Given the description of an element on the screen output the (x, y) to click on. 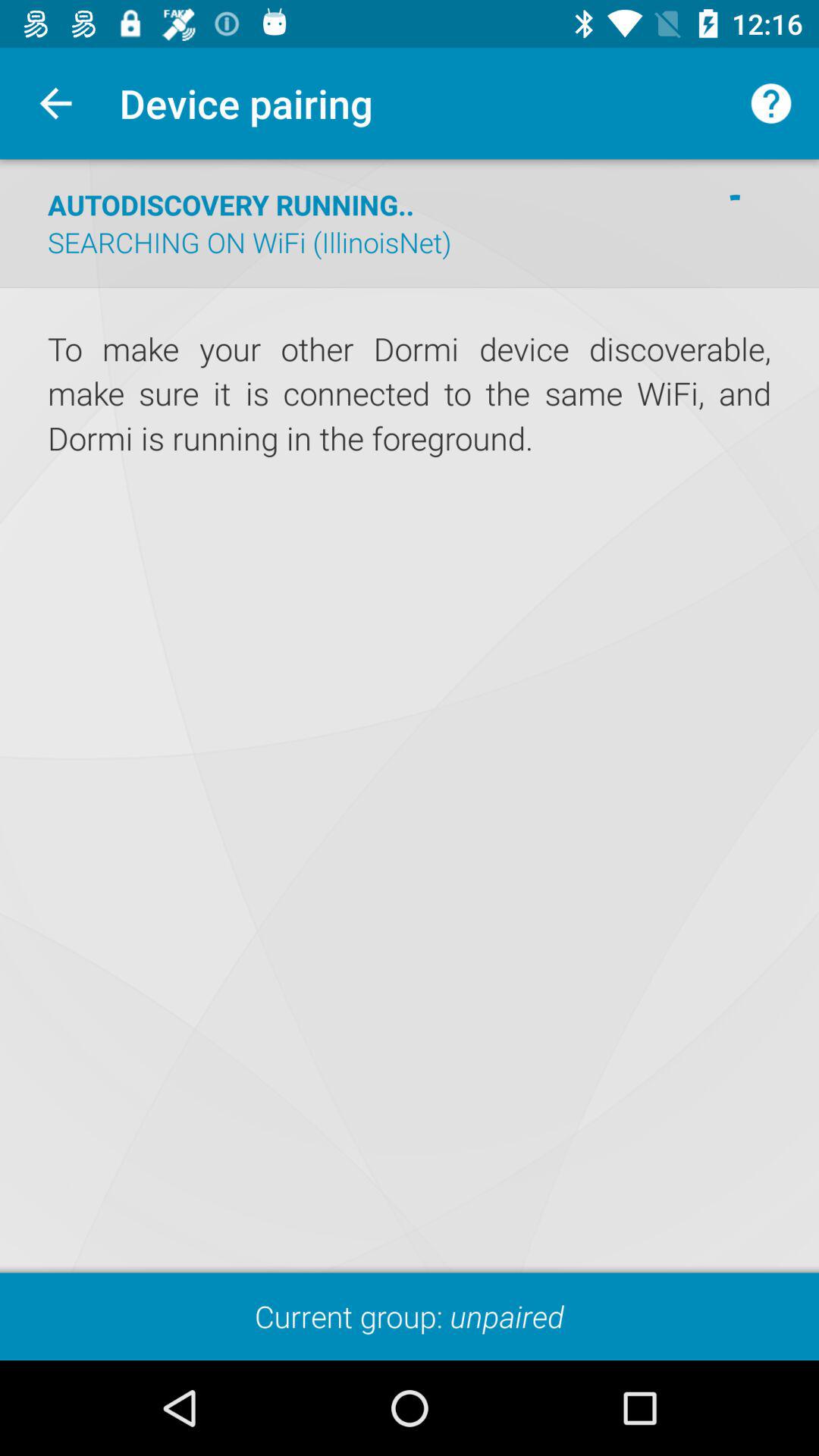
select the item above current group: unpaired item (409, 715)
